Given the description of an element on the screen output the (x, y) to click on. 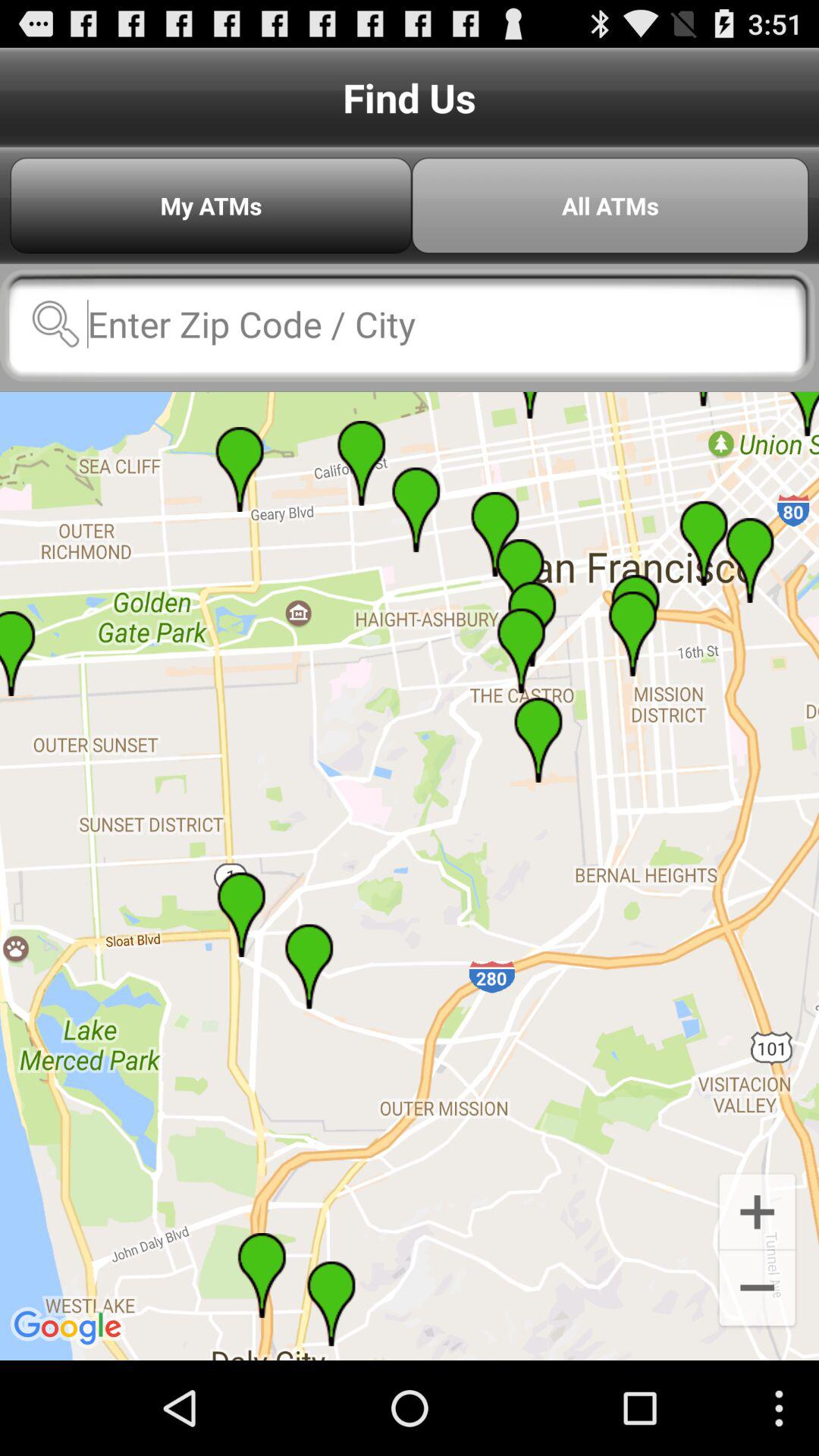
zip code or city search box (407, 323)
